Given the description of an element on the screen output the (x, y) to click on. 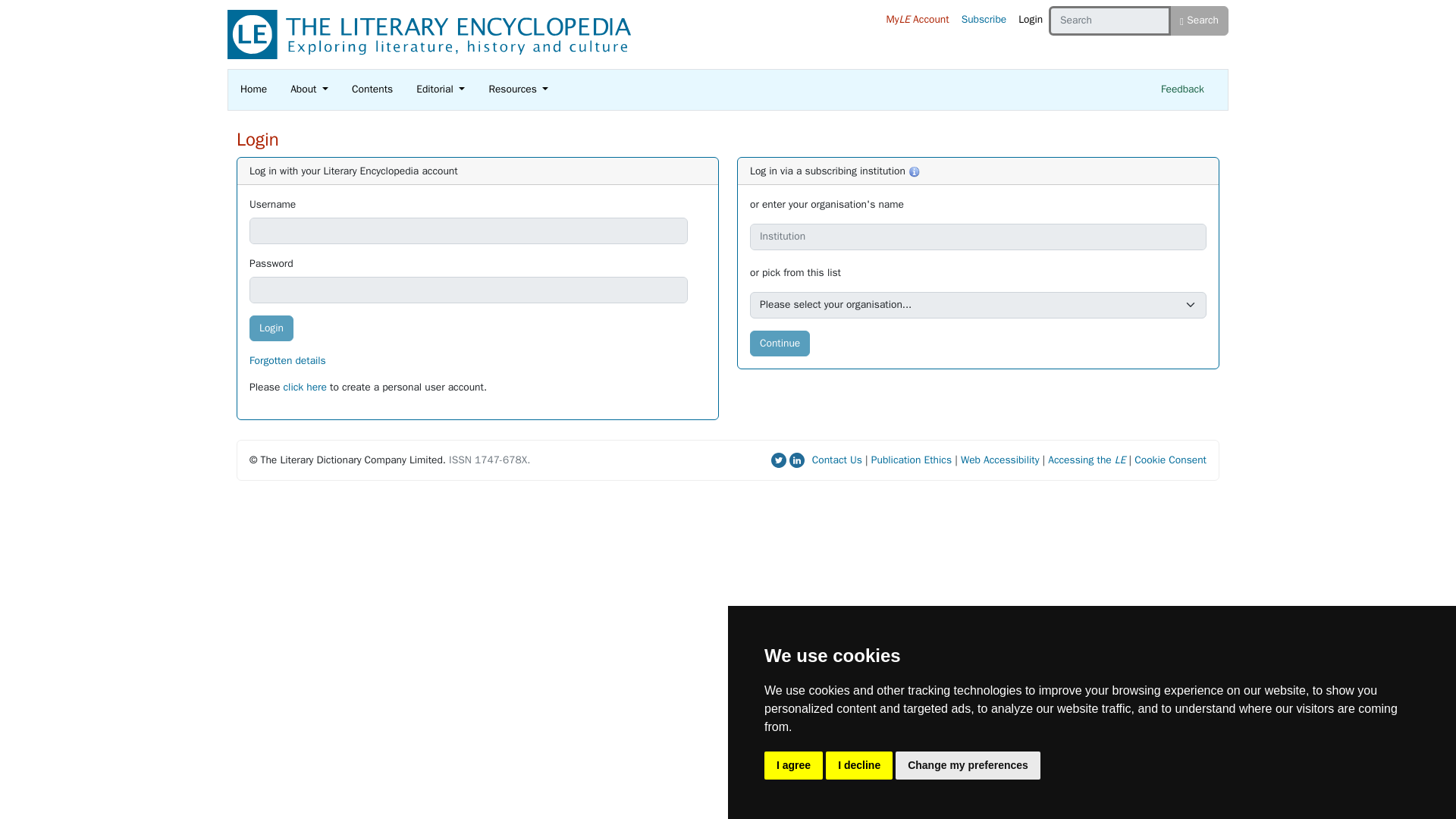
Continue (779, 343)
Login (1029, 19)
Editorial (440, 90)
About (308, 90)
Contents (372, 90)
Subscribe (984, 19)
Login (271, 328)
Feedback (1181, 90)
Resources (517, 90)
click here (304, 386)
Forgotten details (287, 359)
Search (1199, 20)
Home (253, 90)
MyLE Account (917, 19)
